Given the description of an element on the screen output the (x, y) to click on. 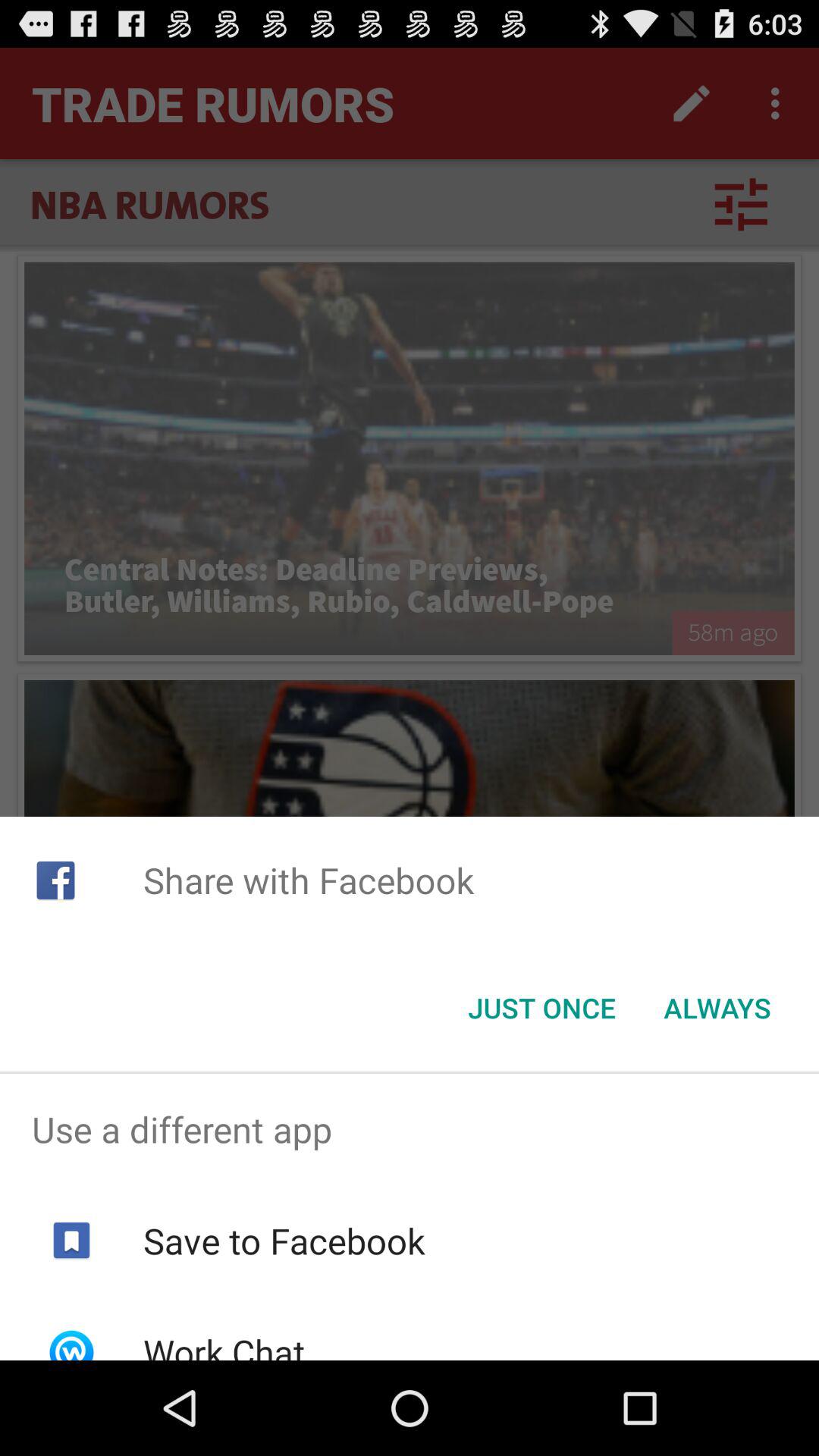
flip to always item (717, 1007)
